Given the description of an element on the screen output the (x, y) to click on. 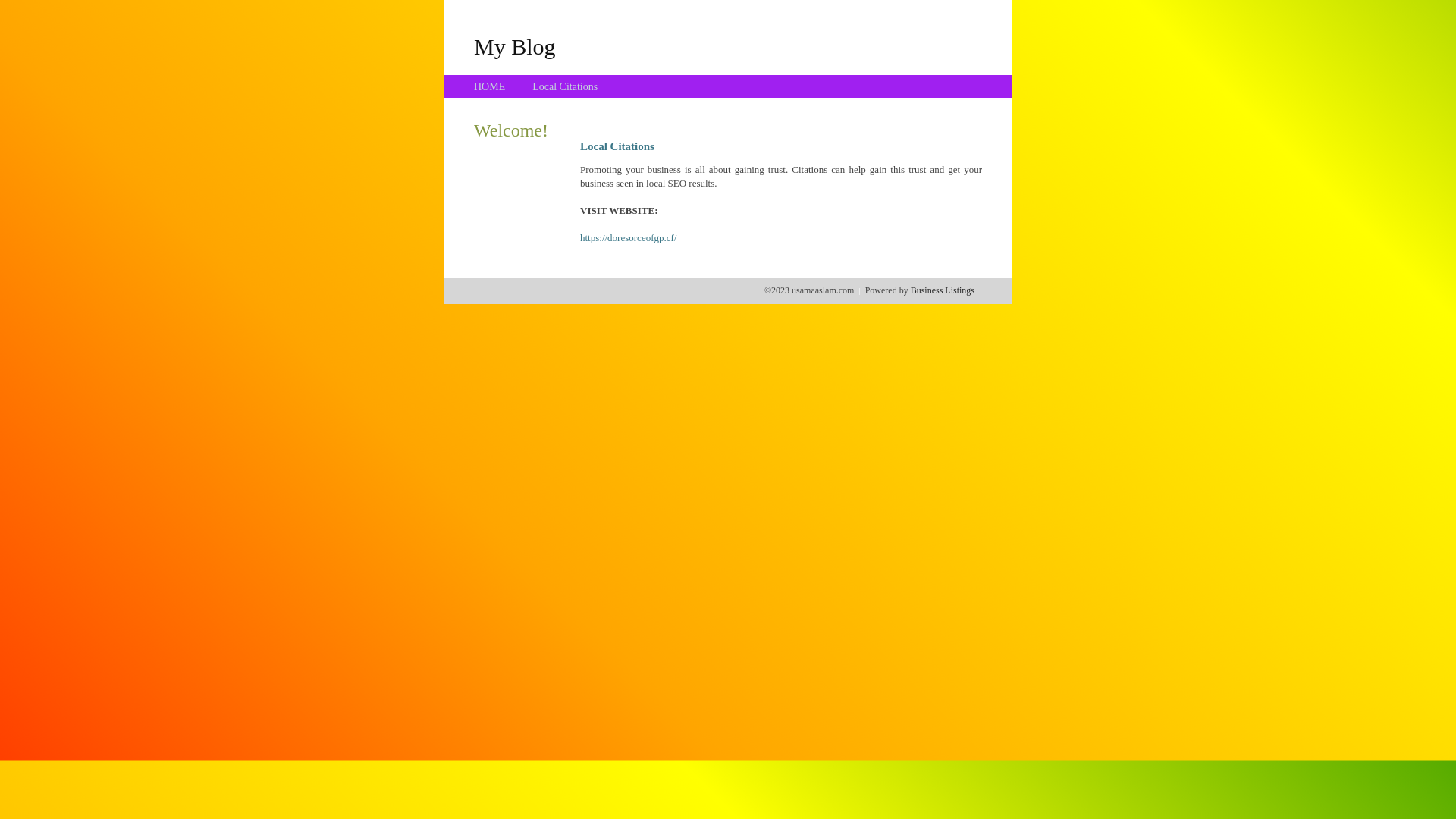
https://doresorceofgp.cf/ Element type: text (628, 237)
My Blog Element type: text (514, 46)
HOME Element type: text (489, 86)
Local Citations Element type: text (564, 86)
Business Listings Element type: text (942, 290)
